Given the description of an element on the screen output the (x, y) to click on. 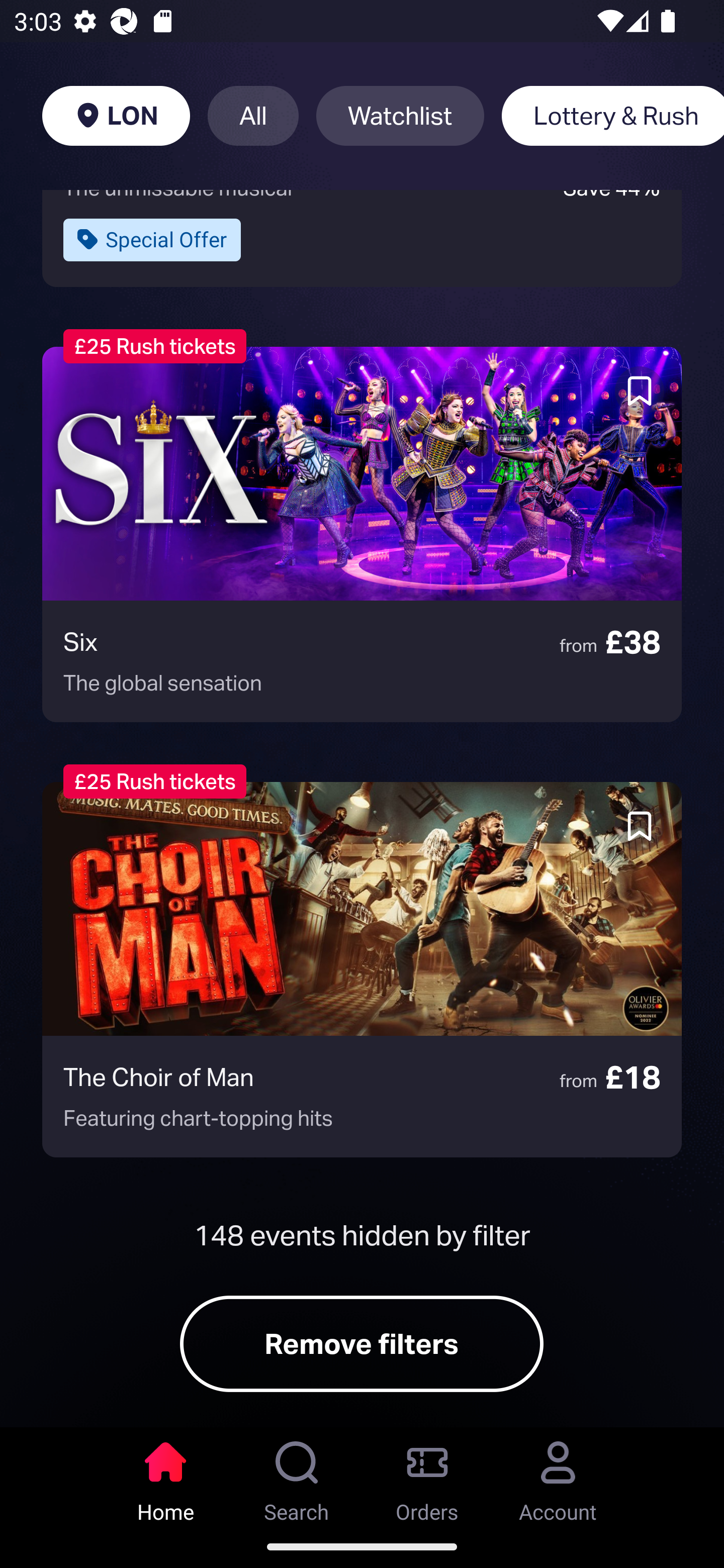
LON (115, 115)
All (252, 115)
Watchlist (400, 115)
Lottery & Rush (612, 115)
The unmissable musical Save 44% Special Offer (361, 237)
Six from £38 The global sensation (361, 534)
Remove filters (361, 1343)
Search (296, 1475)
Orders (427, 1475)
Account (558, 1475)
